Given the description of an element on the screen output the (x, y) to click on. 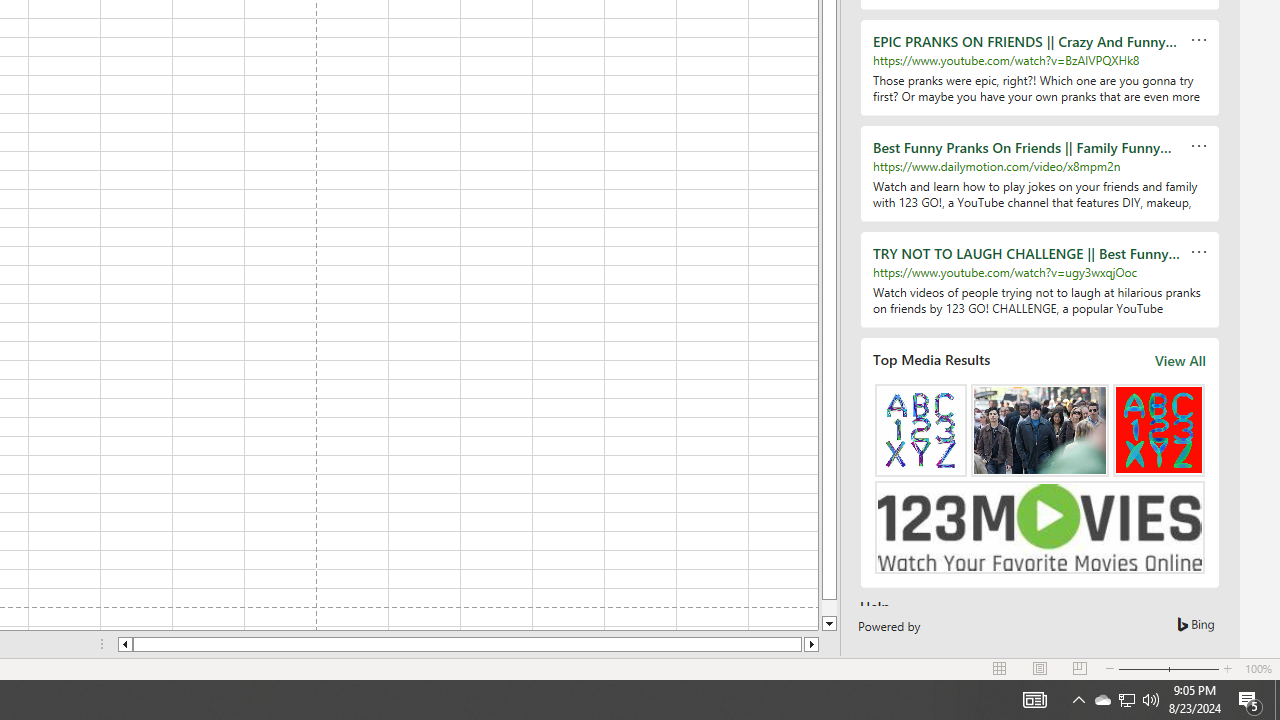
Zoom Out (1142, 668)
Page down (829, 607)
Zoom In (1227, 668)
Zoom (1168, 668)
Page Layout (1039, 668)
Page Break Preview (1079, 668)
Class: NetUIScrollBar (468, 644)
Column left (124, 644)
Line down (829, 624)
Column right (811, 644)
Normal (1000, 668)
